Given the description of an element on the screen output the (x, y) to click on. 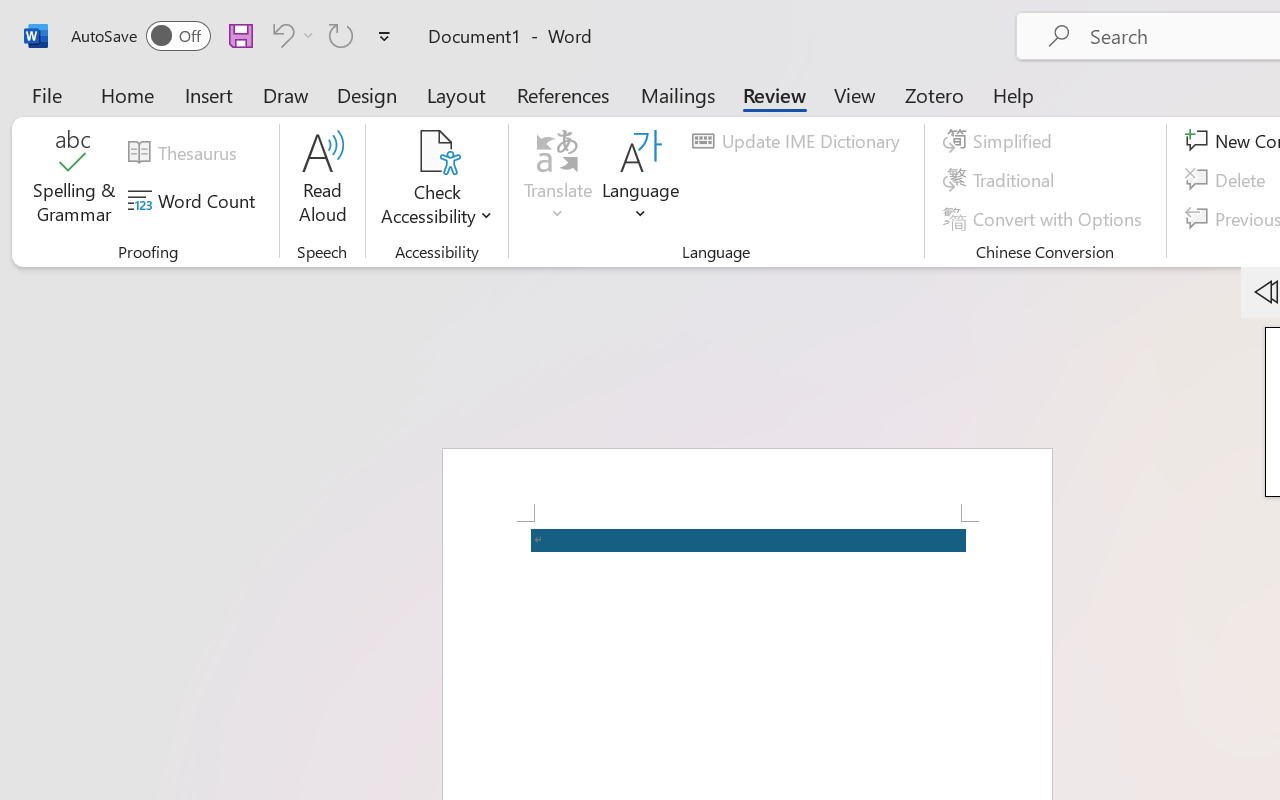
Undo Apply Quick Style Set (290, 35)
Simplified (1000, 141)
Thesaurus... (185, 153)
Read Aloud (322, 179)
Spelling & Grammar (74, 180)
Check Accessibility (436, 151)
Language (641, 179)
